Given the description of an element on the screen output the (x, y) to click on. 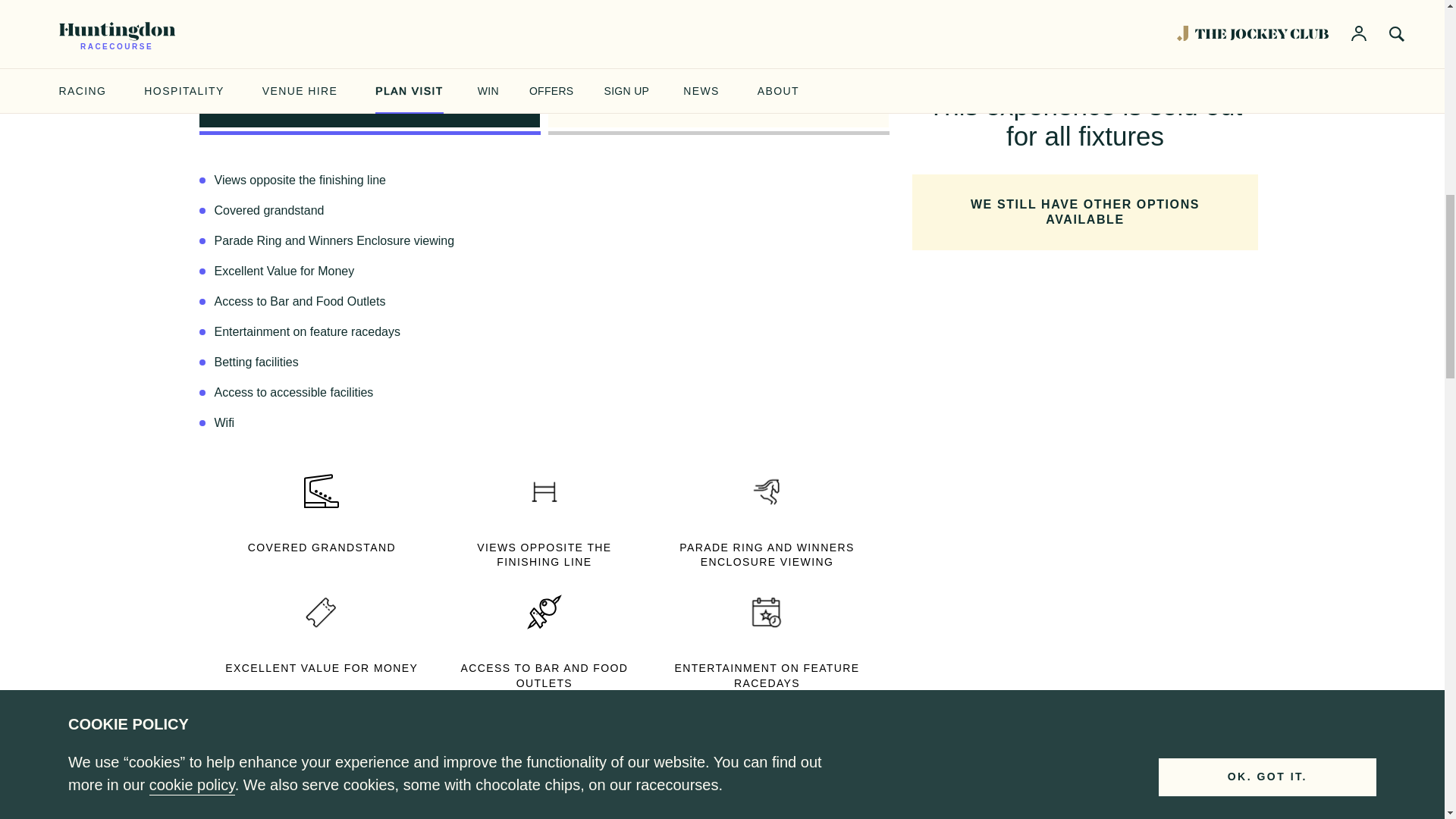
Parade Ring and Winners enclosure viewing (767, 490)
Access to Bar and Food Outlets (544, 611)
Views opposite the finishing line (544, 490)
Excellent Value for Money (321, 611)
Entertainment on feature racedays (767, 611)
Covered Grandstand (321, 490)
